Given the description of an element on the screen output the (x, y) to click on. 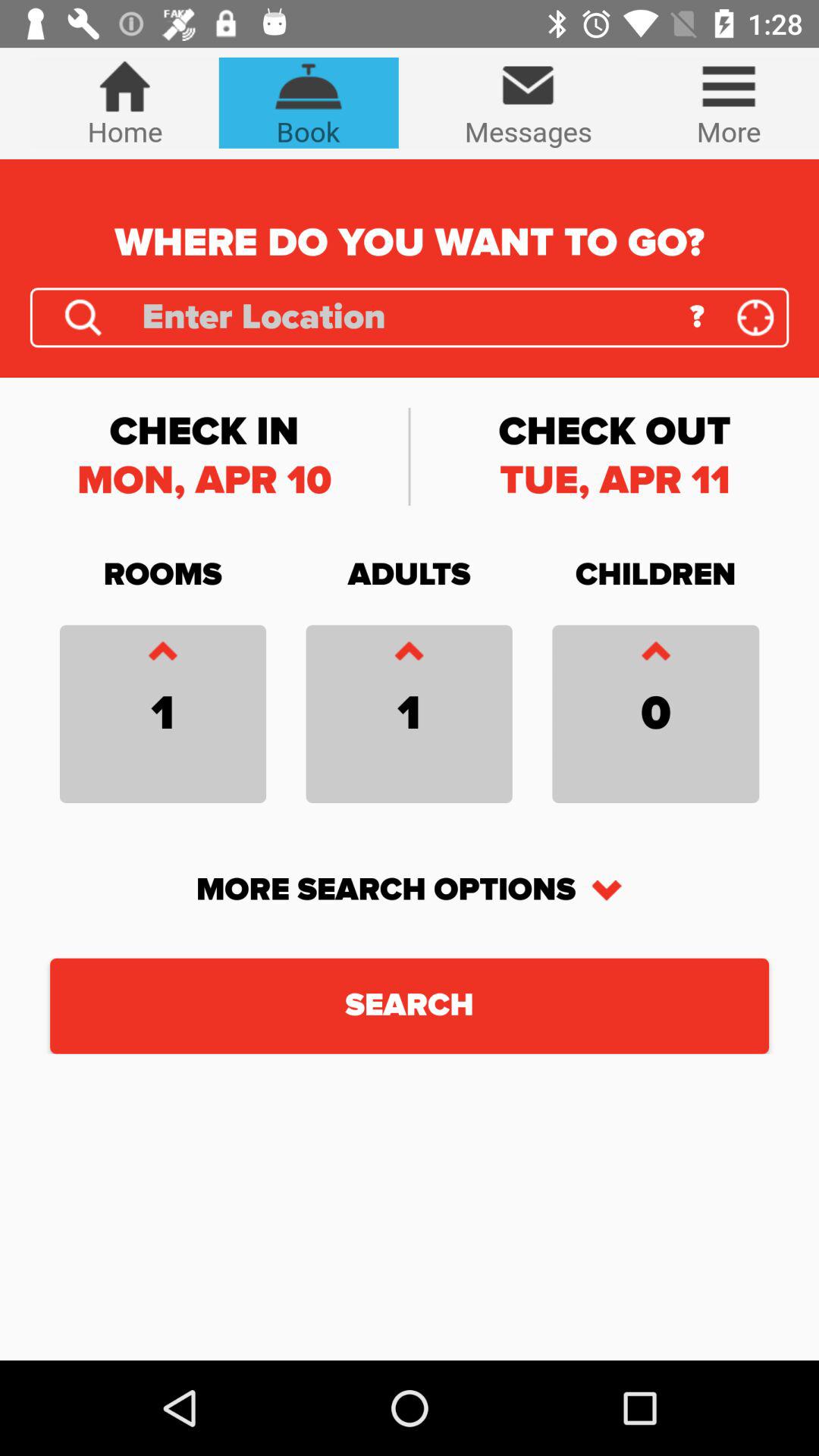
locate your location (755, 317)
